Given the description of an element on the screen output the (x, y) to click on. 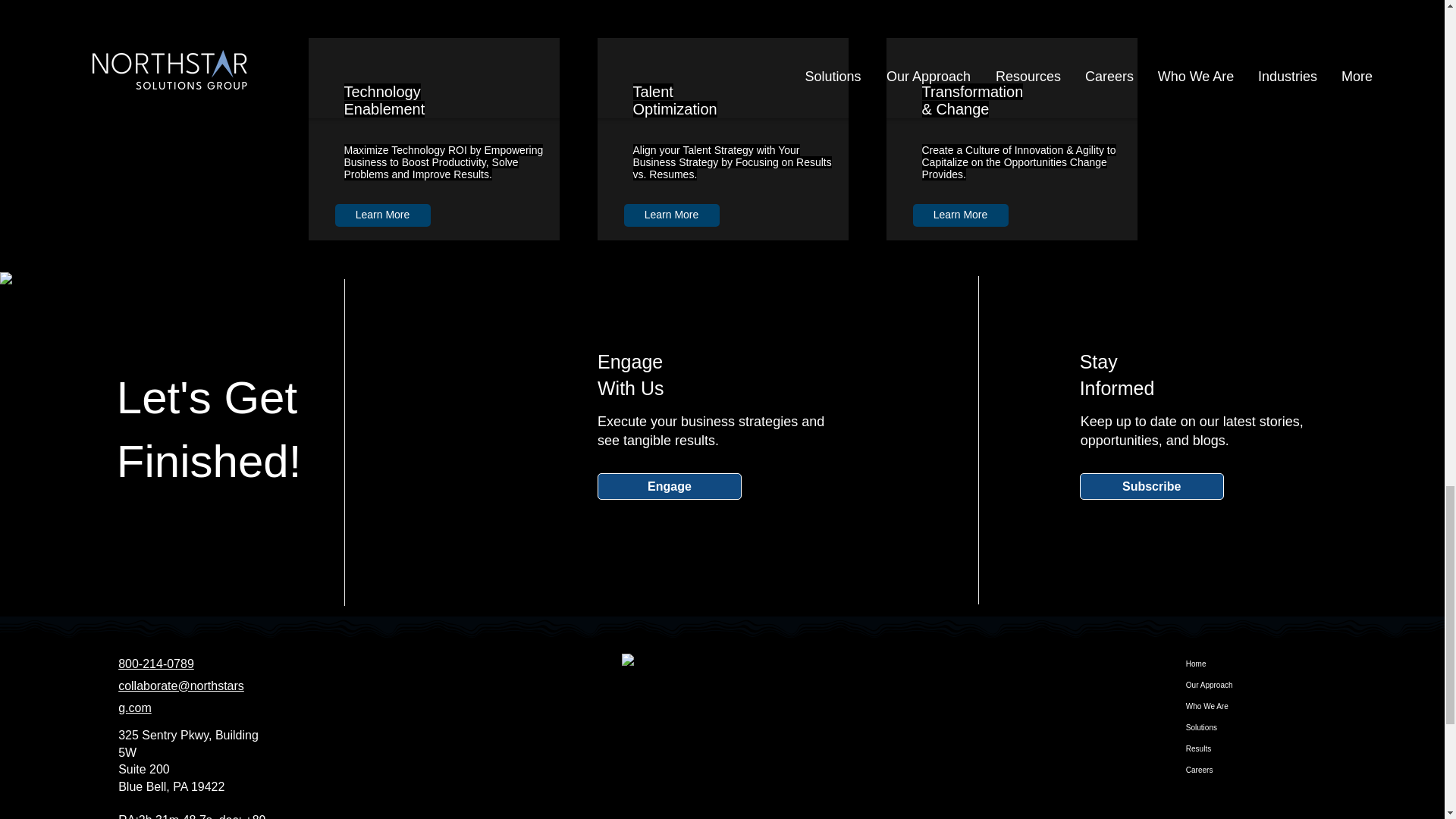
Learn More (382, 214)
Subscribe (1152, 486)
Solutions (1213, 727)
Engage (668, 486)
Home (1213, 663)
Learn More (671, 214)
Learn More (960, 214)
Our Approach (1213, 685)
Results (1213, 749)
Who We Are (1213, 706)
Careers (1213, 770)
800-214-0789 (155, 663)
